Given the description of an element on the screen output the (x, y) to click on. 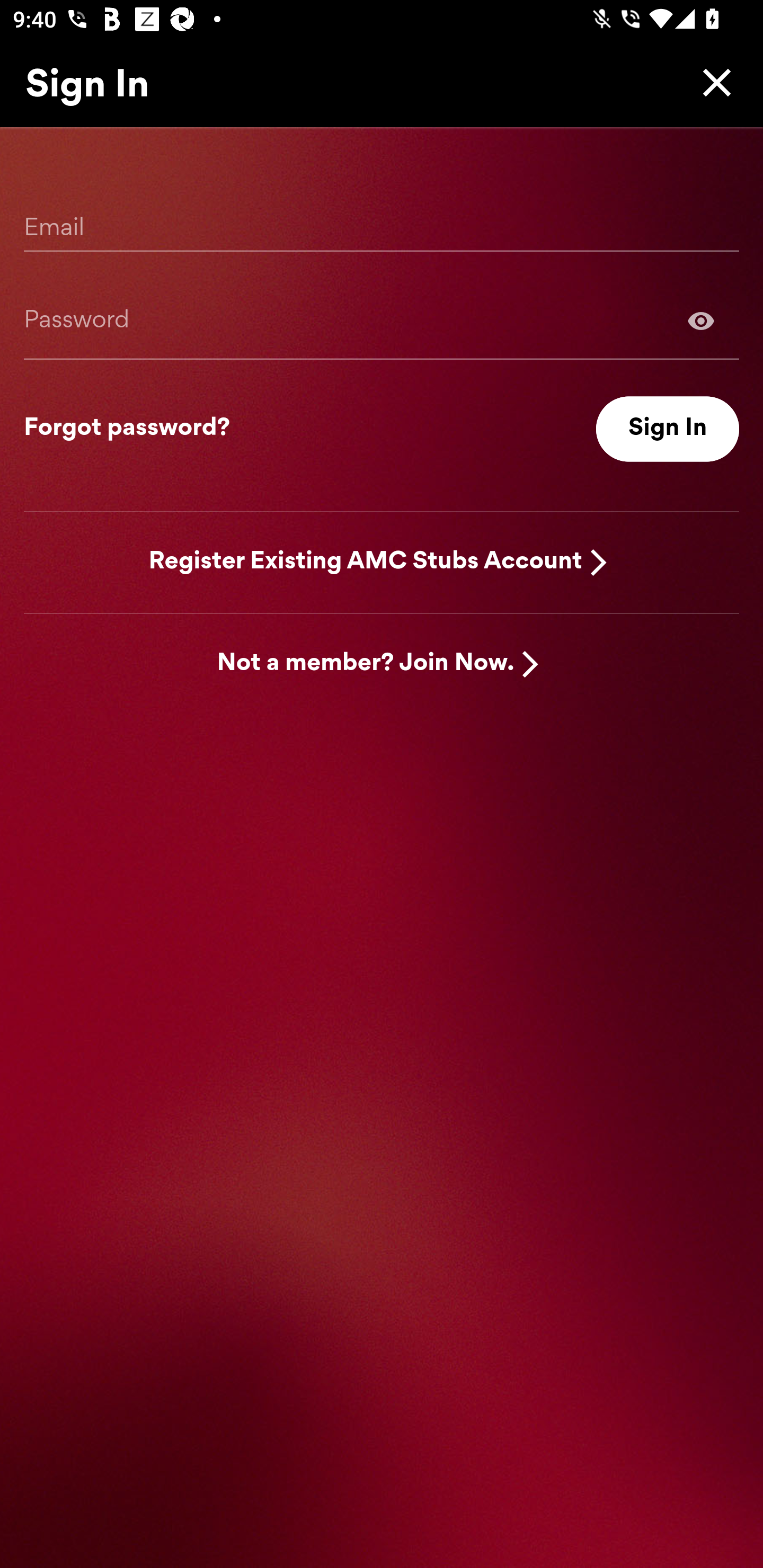
Close (712, 82)
Show Password (381, 320)
Show Password (701, 320)
Forgot password? (126, 428)
Sign In (667, 428)
Register Existing AMC Stubs Account (365, 561)
Not a member? Join Now. (365, 663)
